Given the description of an element on the screen output the (x, y) to click on. 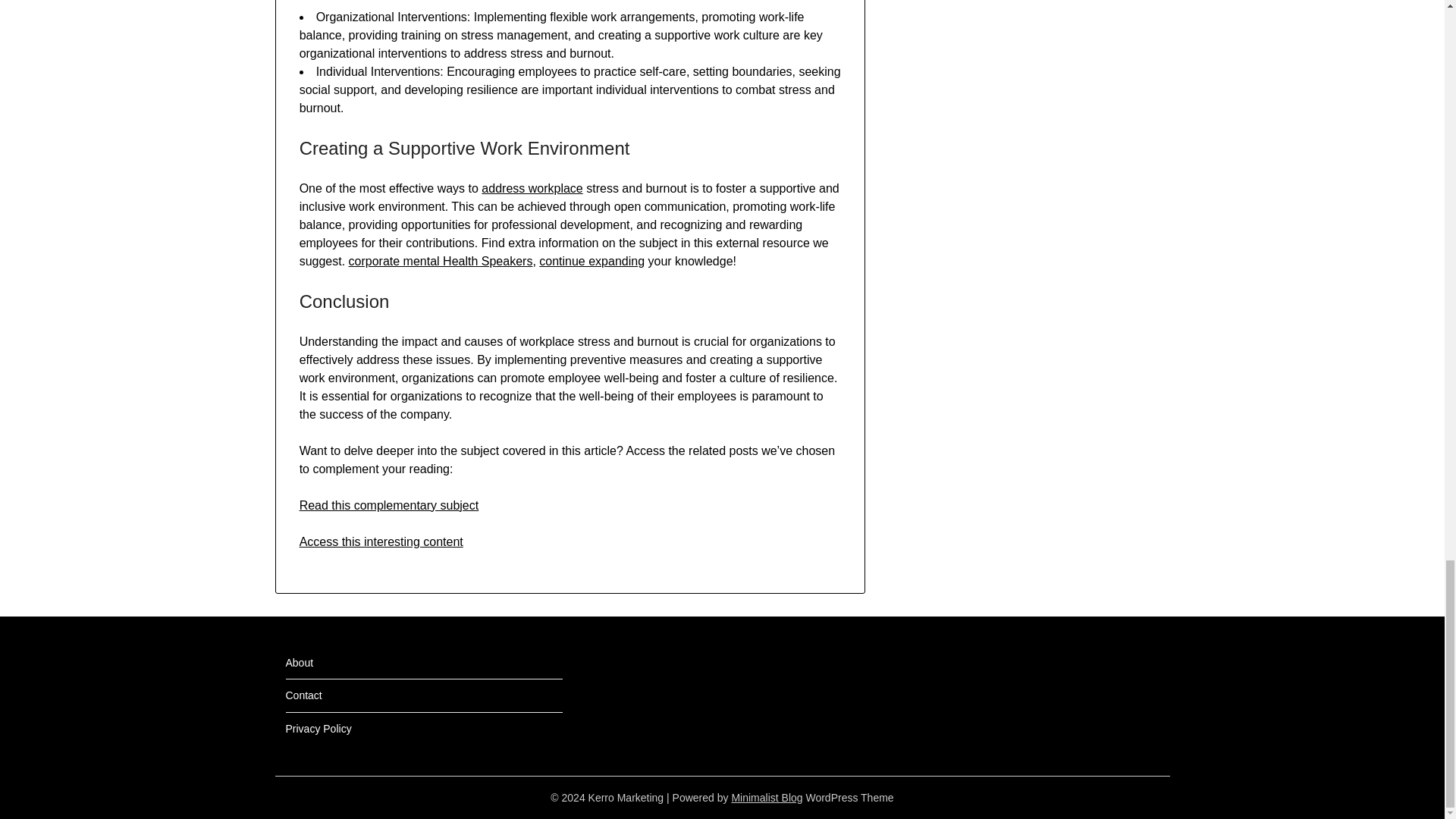
About (299, 662)
Access this interesting content (381, 541)
Minimalist Blog (766, 797)
Read this complementary subject (389, 504)
address workplace (531, 187)
Privacy Policy (317, 728)
Contact (303, 695)
corporate mental Health Speakers (440, 260)
continue expanding (591, 260)
